Given the description of an element on the screen output the (x, y) to click on. 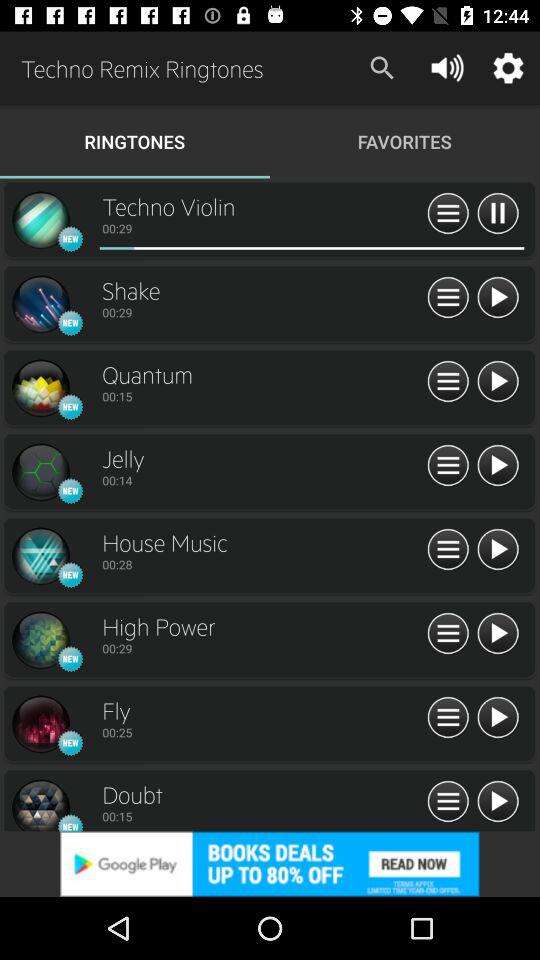
select the share symbol (447, 381)
